Given the description of an element on the screen output the (x, y) to click on. 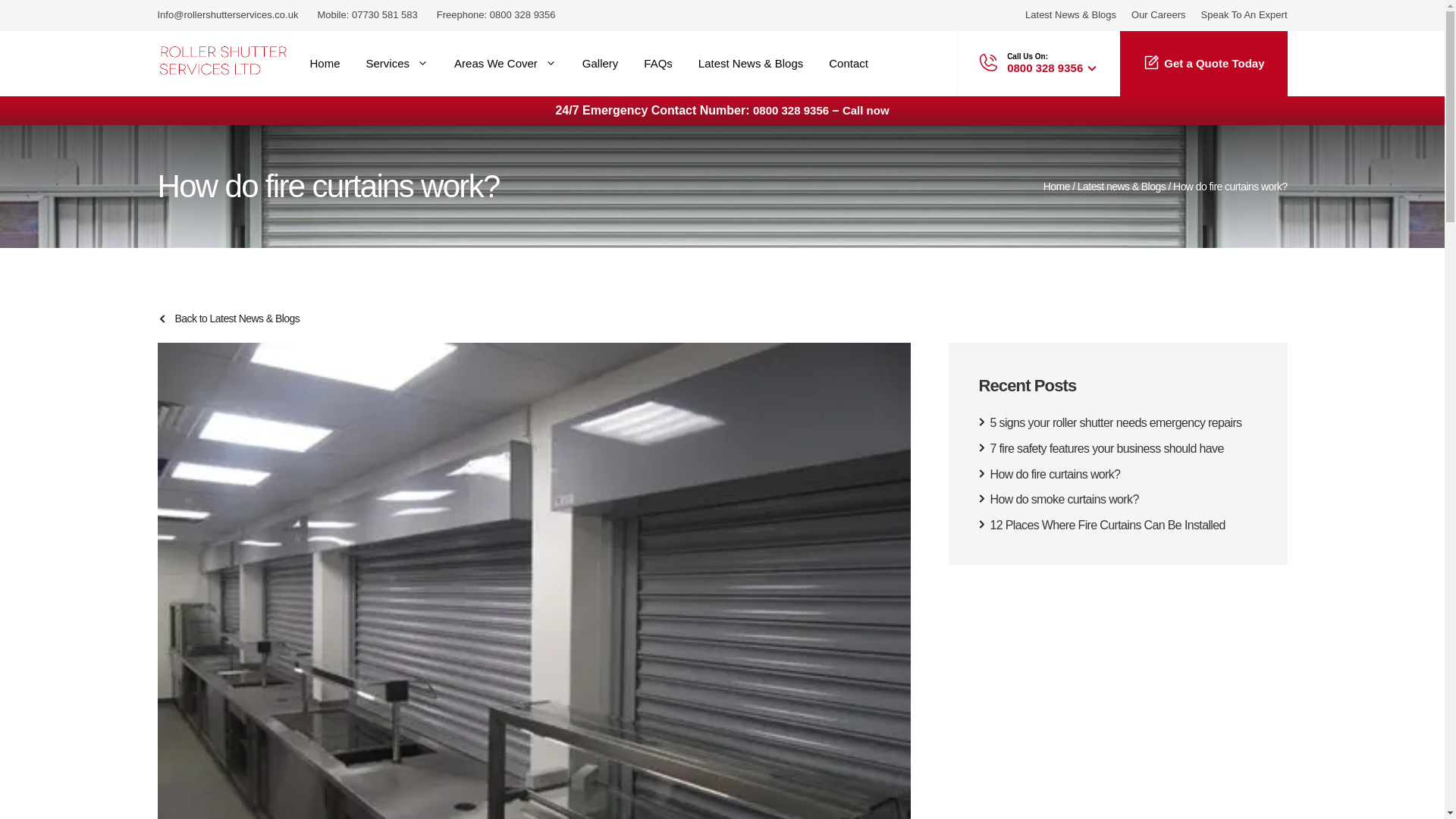
0800 328 9356 (522, 14)
Our Careers (1158, 14)
Roller Shutter Services Ltd (223, 63)
07730 581 583 (384, 14)
Speak To An Expert (1244, 14)
